Given the description of an element on the screen output the (x, y) to click on. 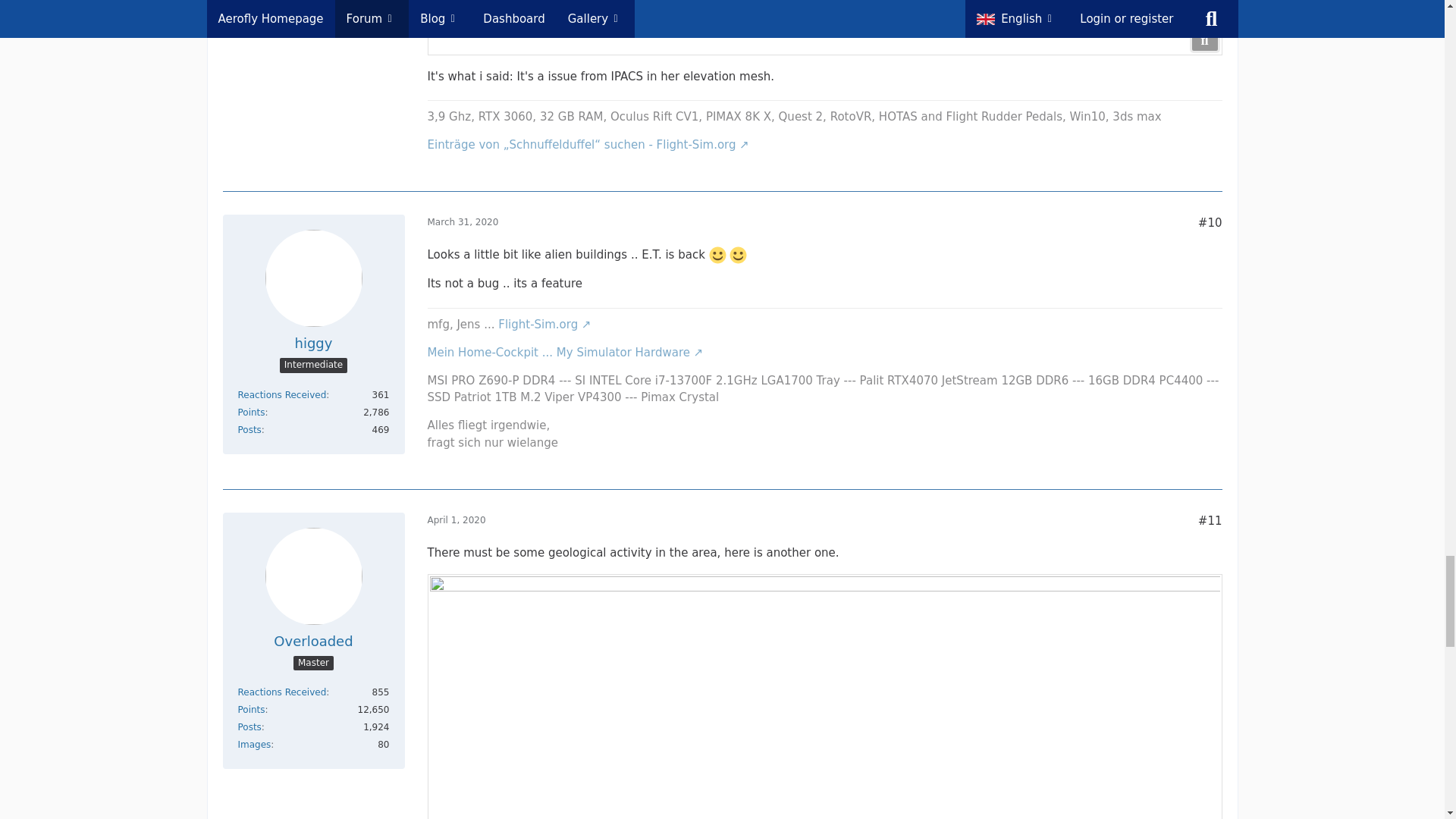
smile (737, 254)
smile (717, 254)
spike.jpg (825, 27)
